Given the description of an element on the screen output the (x, y) to click on. 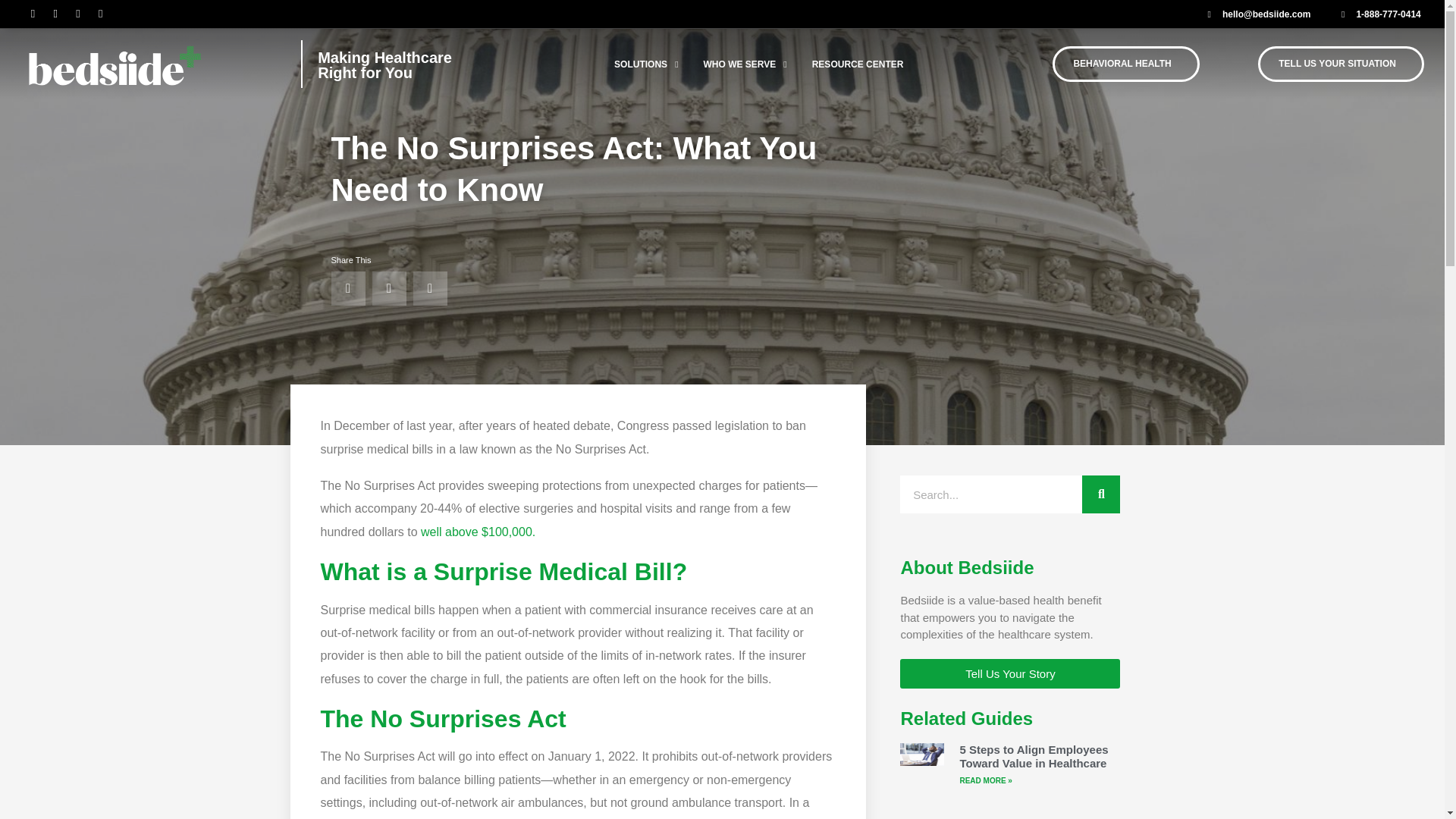
5 Steps to Align Employees Toward Value in Healthcare (1033, 755)
1-888-777-0414 (1377, 14)
RESOURCE CENTER (870, 64)
WHO WE SERVE (757, 64)
TELL US YOUR SITUATION (1340, 63)
SOLUTIONS (658, 64)
Tell Us Your Story (1009, 673)
BEHAVIORAL HEALTH (1125, 63)
